Given the description of an element on the screen output the (x, y) to click on. 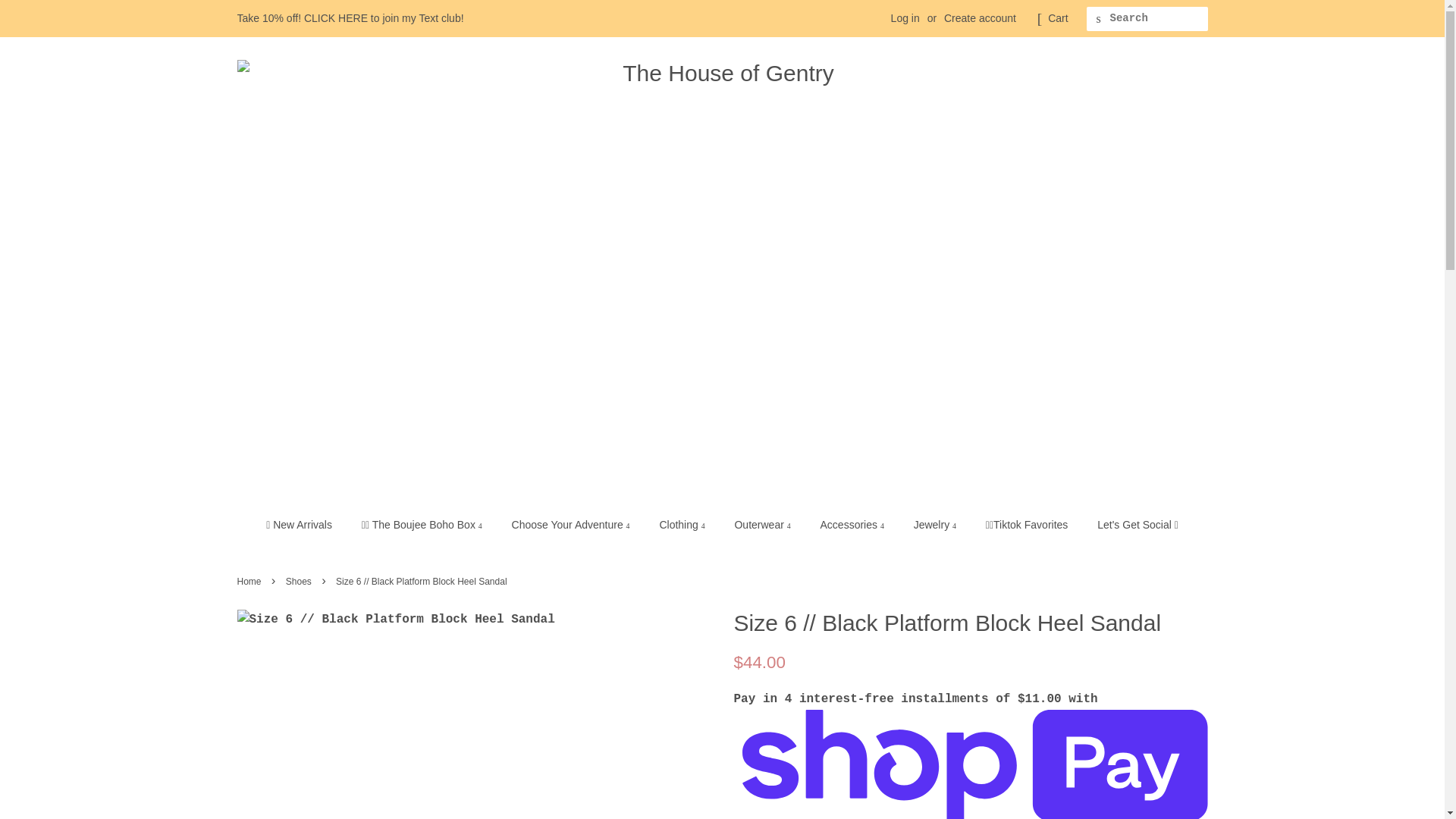
Create account (979, 18)
Search (1097, 18)
Back to the frontpage (249, 581)
Log in (905, 18)
Cart (1057, 18)
